Given the description of an element on the screen output the (x, y) to click on. 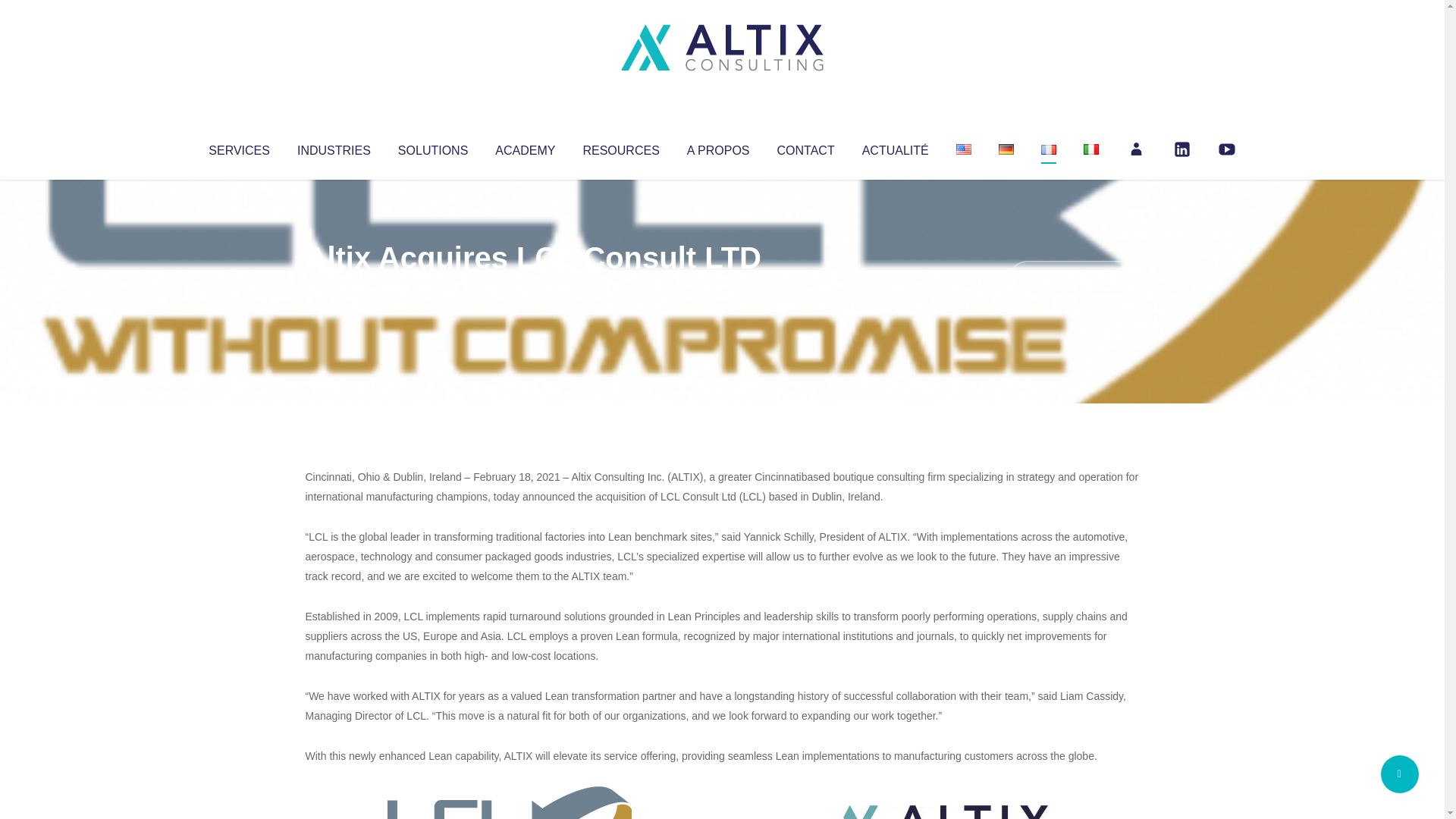
Articles par Altix (333, 287)
Altix (333, 287)
ACADEMY (524, 146)
Uncategorized (530, 287)
SERVICES (238, 146)
No Comments (1073, 278)
SOLUTIONS (432, 146)
RESOURCES (620, 146)
A PROPOS (718, 146)
INDUSTRIES (334, 146)
